Given the description of an element on the screen output the (x, y) to click on. 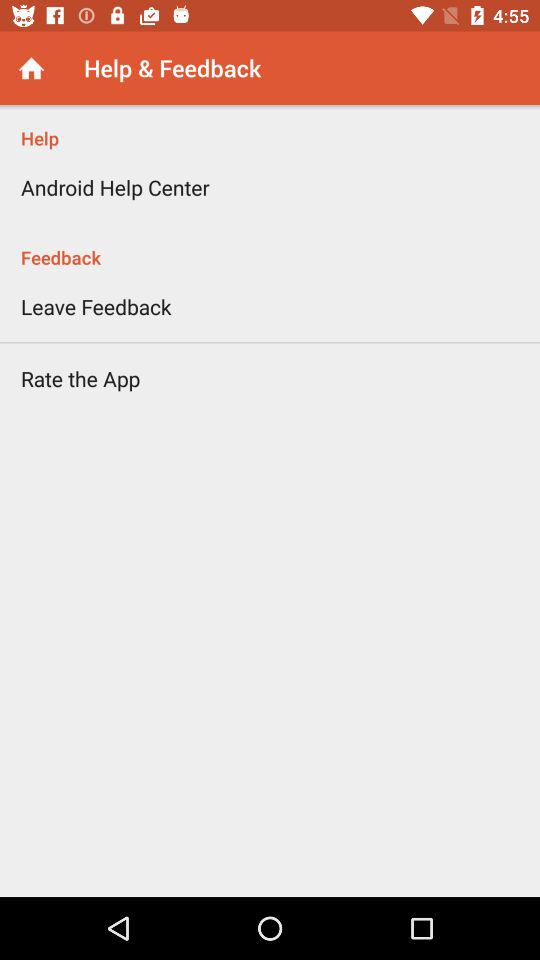
tap the icon next to help & feedback item (31, 68)
